Given the description of an element on the screen output the (x, y) to click on. 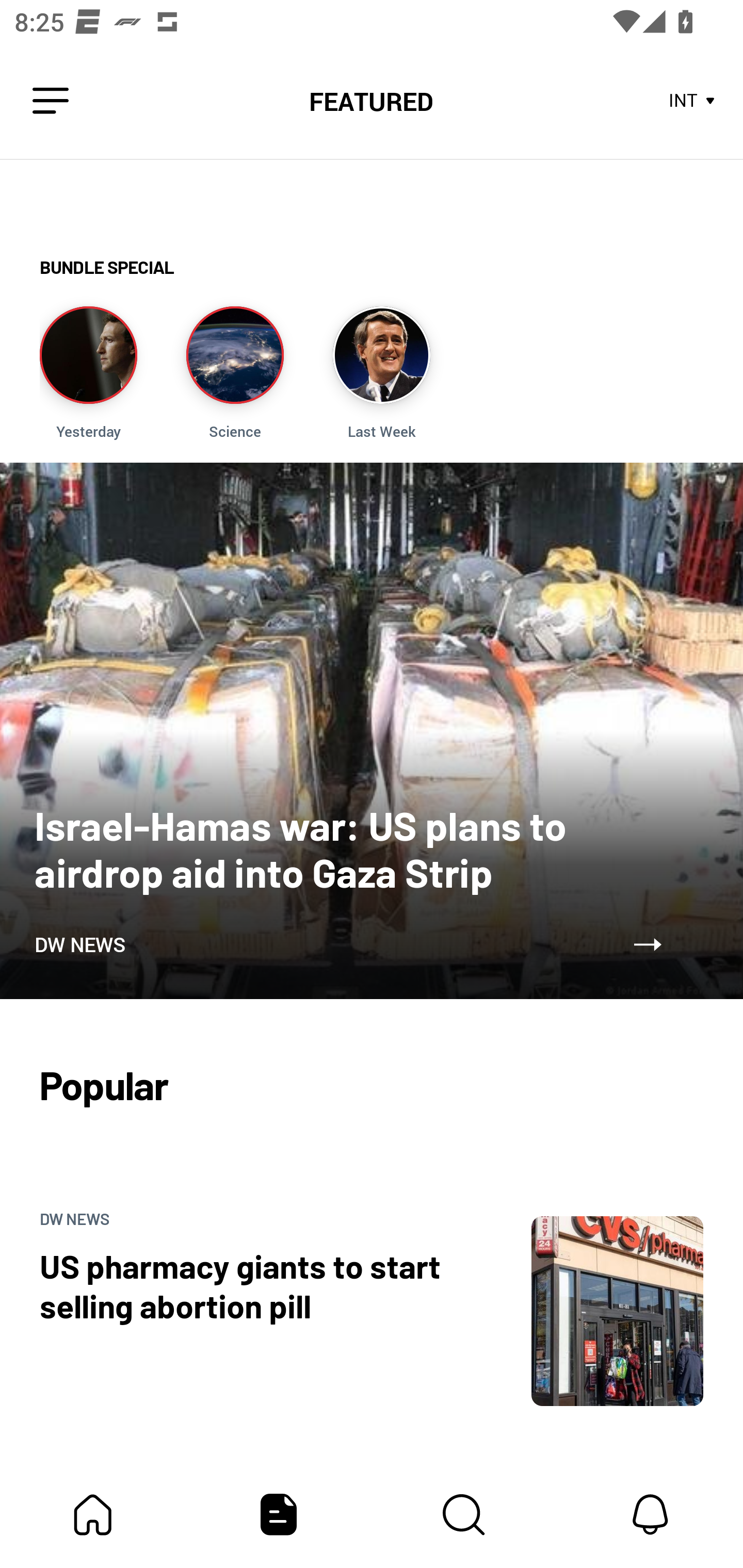
Leading Icon (50, 101)
INT Store Area (692, 101)
Story Image Yesterday (88, 372)
Story Image Science (234, 372)
Story Image Last Week (381, 372)
My Bundle (92, 1514)
Content Store (464, 1514)
Notifications (650, 1514)
